Given the description of an element on the screen output the (x, y) to click on. 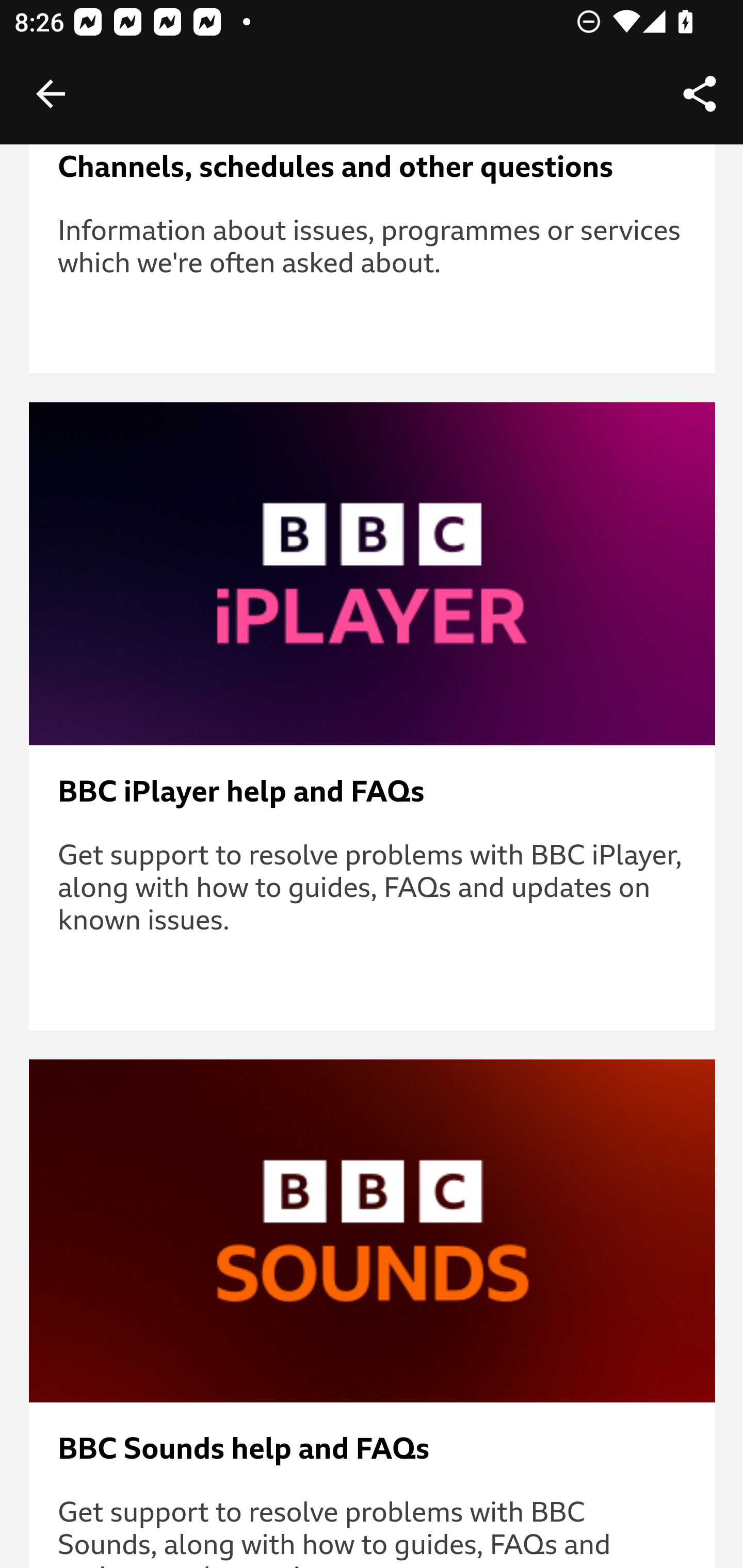
Back (50, 93)
Share (699, 93)
Channels, schedules and other questions (372, 167)
BBC iPlayer help and FAQs (372, 792)
BBC Sounds help and FAQs (372, 1449)
